Given the description of an element on the screen output the (x, y) to click on. 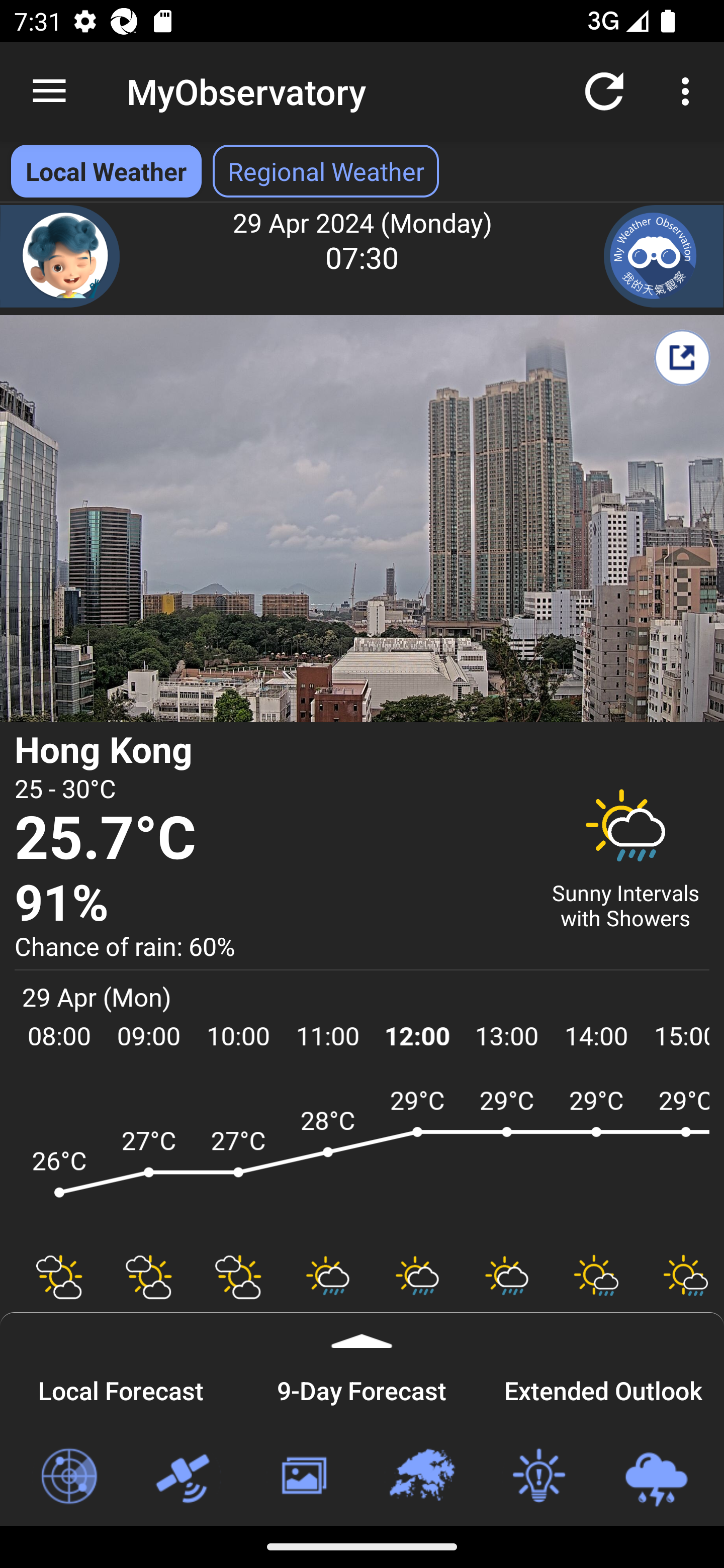
Navigate up (49, 91)
Refresh (604, 90)
More options (688, 90)
Local Weather Local Weather selected (105, 170)
Regional Weather Select Regional Weather (325, 170)
Chatbot (60, 256)
My Weather Observation (663, 256)
Share My Weather Report (681, 357)
25.7°C Temperature
25.7 degree Celsius (270, 839)
91% Relative Humidity
91 percent (270, 903)
ARWF (361, 1160)
Expand (362, 1330)
Local Forecast (120, 1387)
Extended Outlook (603, 1387)
Radar Images (68, 1476)
Satellite Images (185, 1476)
Weather Photos (302, 1476)
Regional Weather (420, 1476)
Weather Tips (537, 1476)
Loc-based Rain & Lightning Forecast (655, 1476)
